Given the description of an element on the screen output the (x, y) to click on. 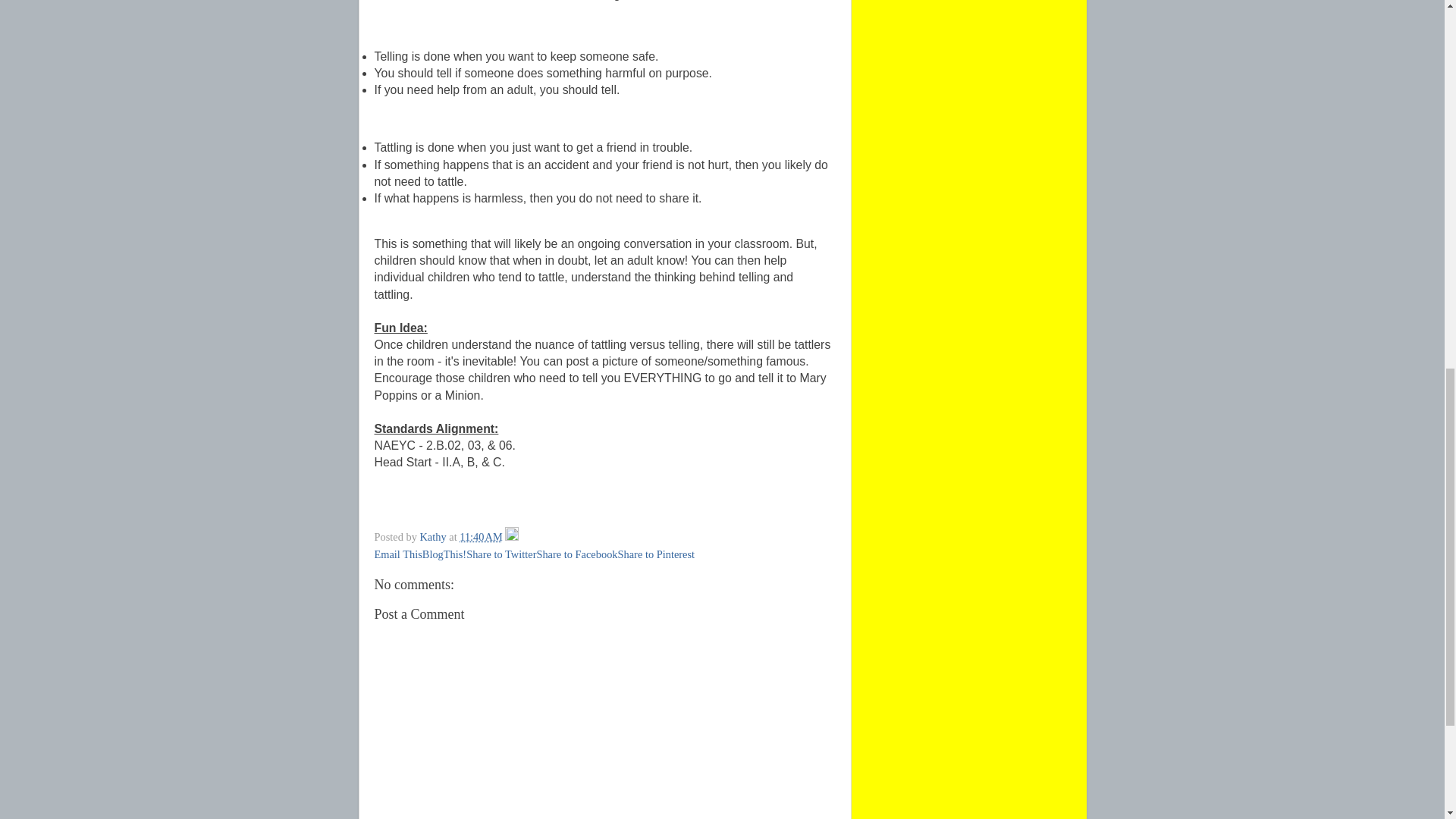
permanent link (481, 536)
BlogThis! (443, 553)
BlogThis! (443, 553)
Email This (398, 553)
Share to Pinterest (656, 553)
Share to Facebook (576, 553)
Edit Post (511, 536)
author profile (433, 536)
Email This (398, 553)
